Given the description of an element on the screen output the (x, y) to click on. 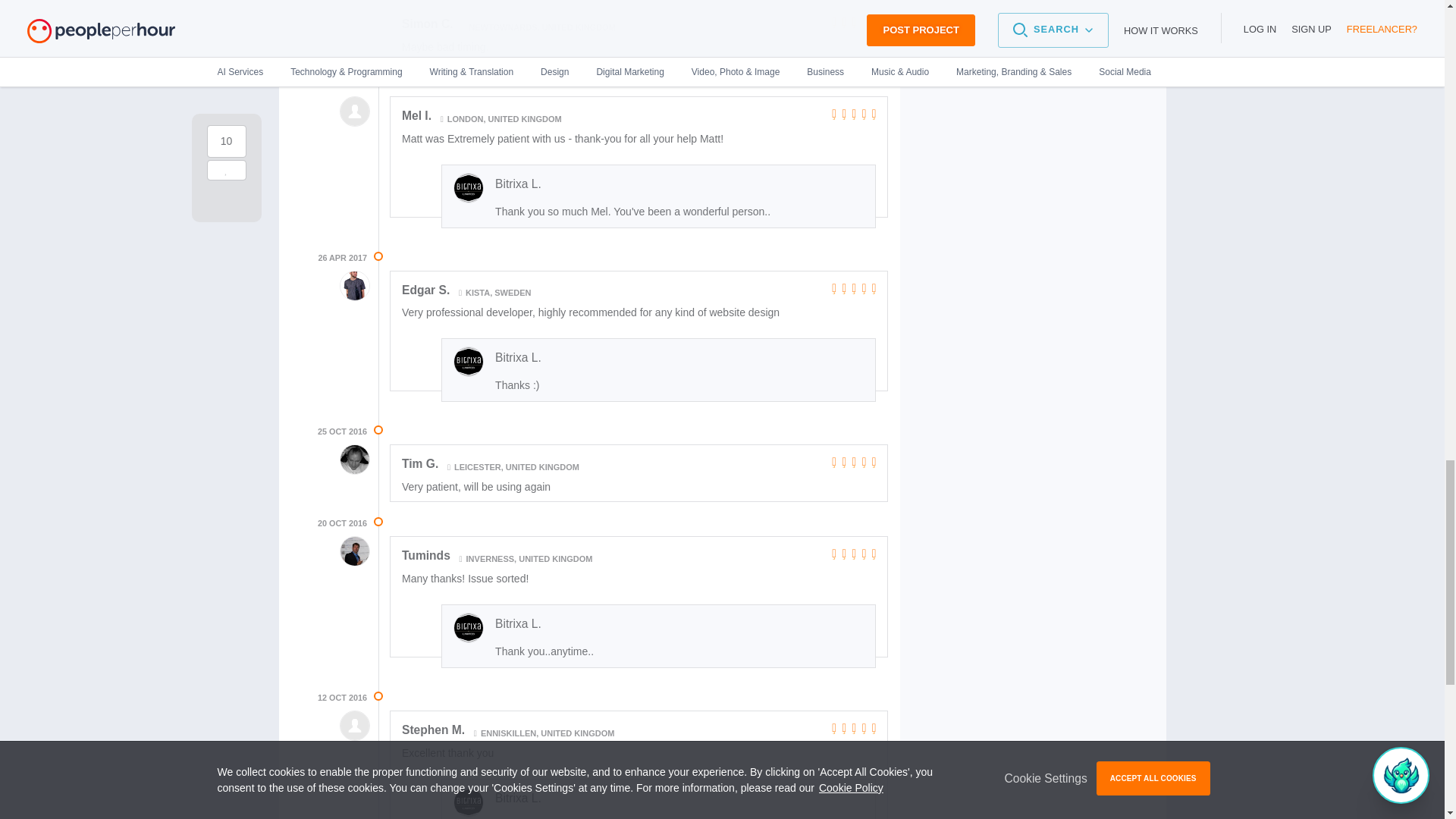
Fri, 25 May 2018  at 5:23pm (341, 83)
Thu, 20 Oct 2016  at 1:14am (341, 522)
Tue, 25 Oct 2016  at 5:38pm (341, 431)
Wed, 12 Oct 2016  at 12:26am (341, 697)
Wed, 26 Apr 2017  at 7:58pm (341, 257)
